Given the description of an element on the screen output the (x, y) to click on. 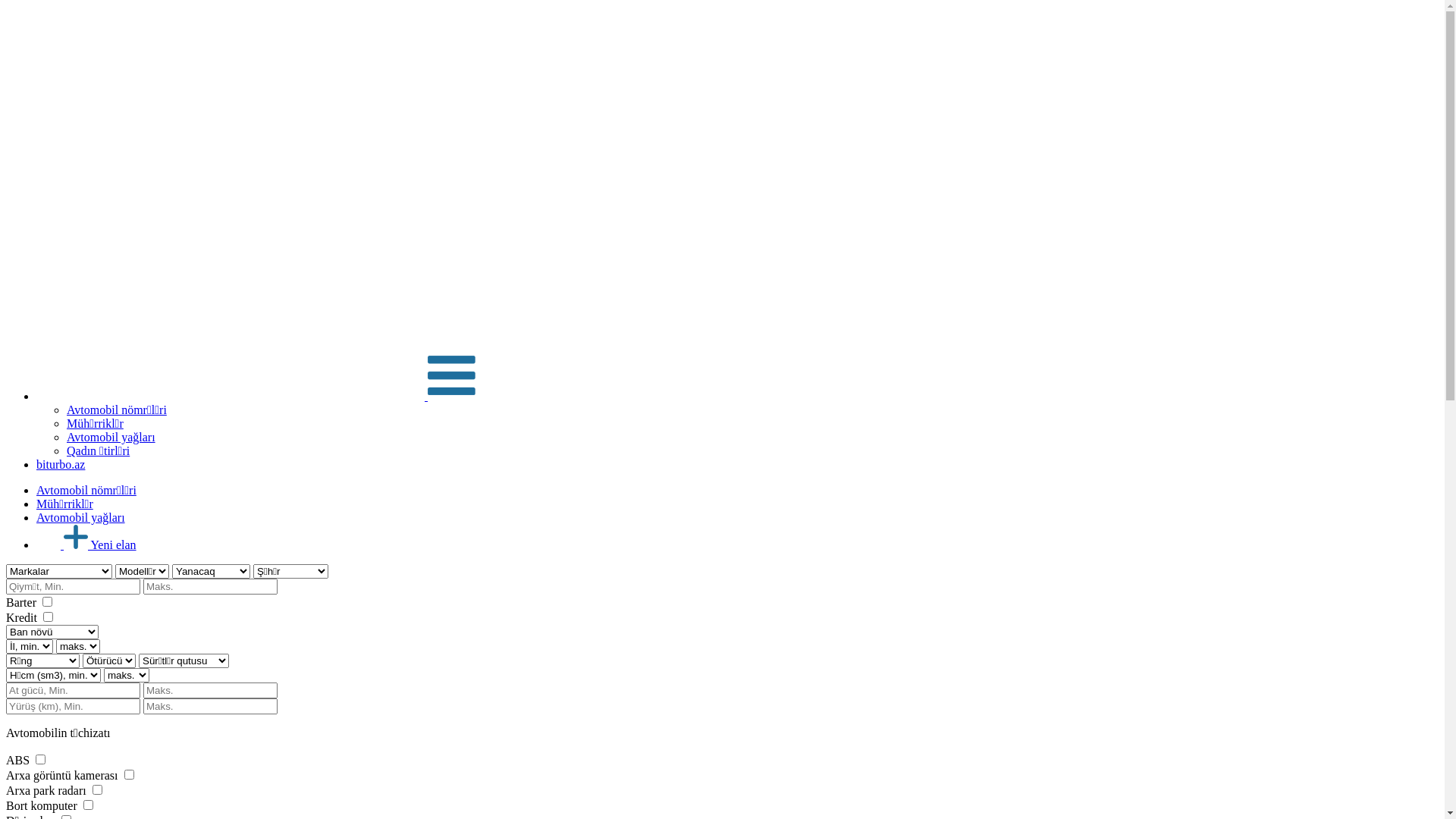
Yeni elan Element type: text (86, 544)
biturbo.az Element type: text (60, 464)
